Given the description of an element on the screen output the (x, y) to click on. 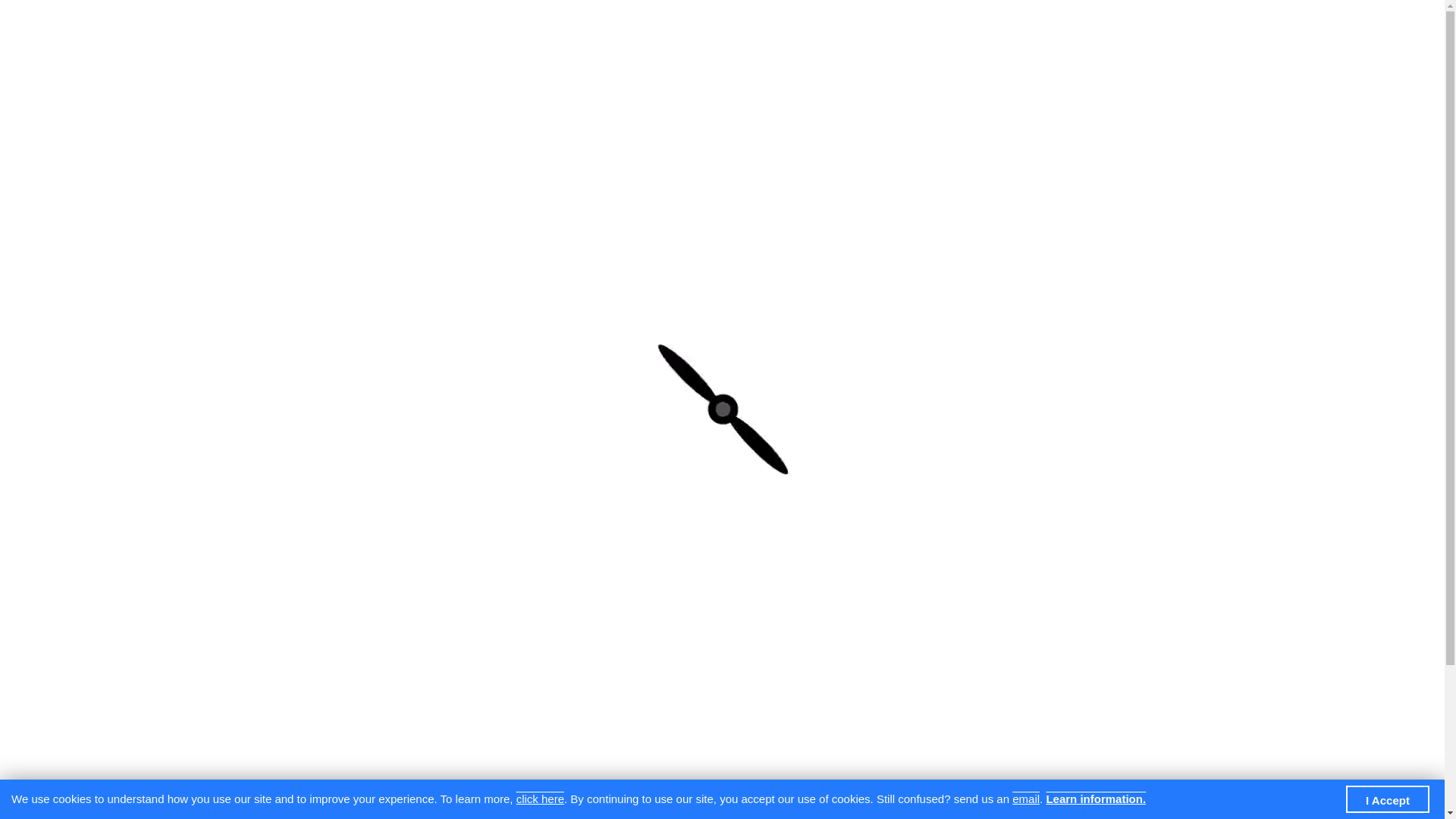
Request Absence Element type: text (942, 664)
CONTACT US Element type: text (600, 72)
Learn information. Element type: text (1095, 797)
OUR HISTORY Element type: text (709, 72)
member of staff directly Element type: text (660, 273)
WHO WE ARE Element type: text (1115, 72)
Read More Element type: text (987, 797)
HOME Element type: text (428, 72)
GALLERY Element type: text (504, 72)
THE HANGAR Element type: text (898, 72)
JOIN US Element type: text (804, 72)
click here Element type: text (540, 797)
WHAT WE DO Element type: text (1006, 72)
Leave App Element type: text (428, 136)
email Element type: text (1025, 797)
01935 431362 Element type: text (369, 14)
training.1032@rafac.mod.gov.uk Element type: text (536, 14)
